Given the description of an element on the screen output the (x, y) to click on. 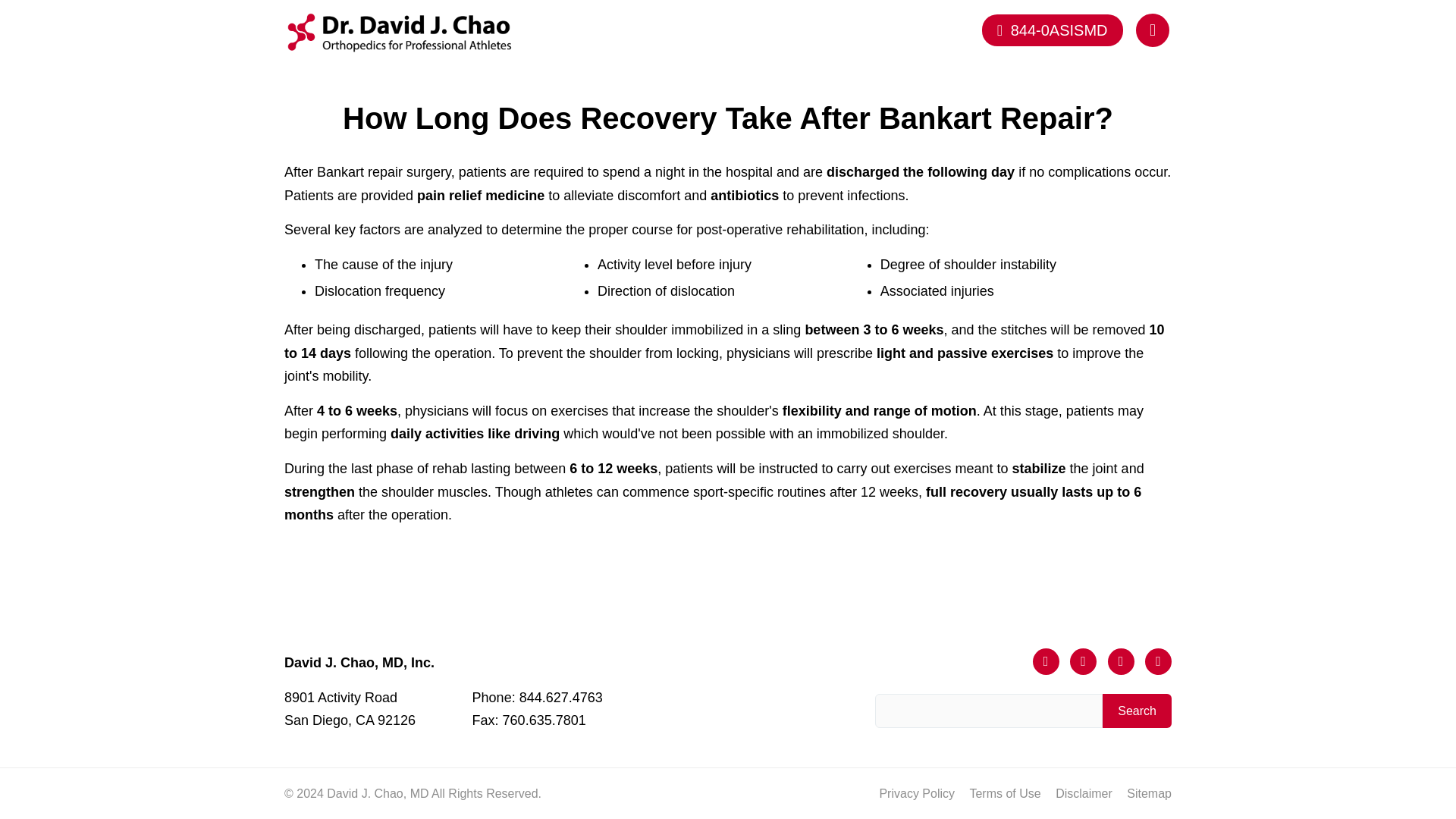
844-0ASISMD (1051, 29)
Terms of Use (1005, 793)
Sitemap (1149, 793)
Disclaimer (1083, 793)
844.627.4763 (348, 709)
Search (560, 697)
Privacy Policy (1137, 710)
